Given the description of an element on the screen output the (x, y) to click on. 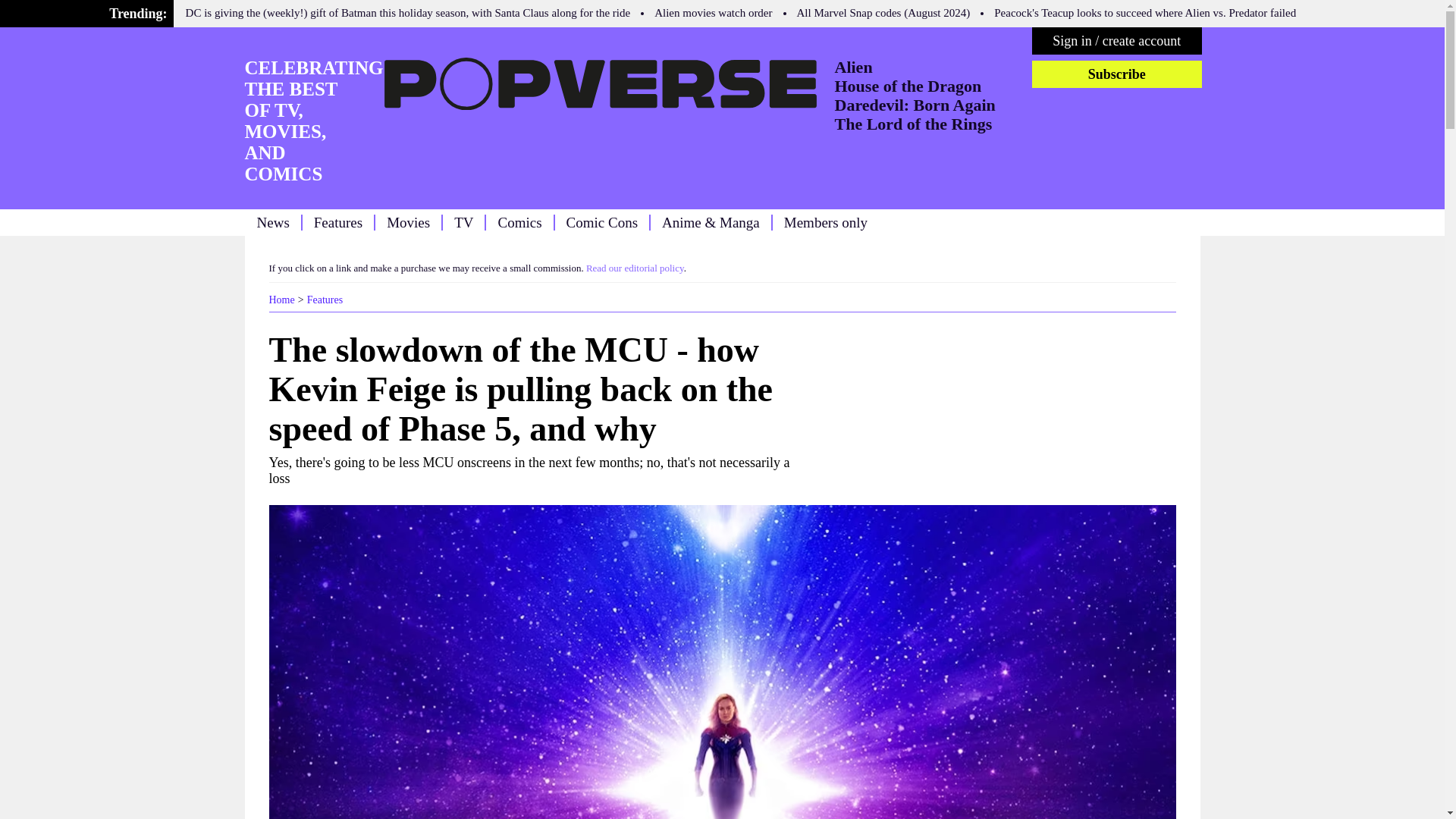
Home (280, 299)
Daredevil: Born Again (914, 104)
House of the Dragon (907, 85)
Members only (825, 222)
Alien movies watch order (712, 12)
Alien (853, 66)
Home (280, 299)
Comics (519, 222)
TV (463, 222)
The Lord of the Rings (912, 123)
